Given the description of an element on the screen output the (x, y) to click on. 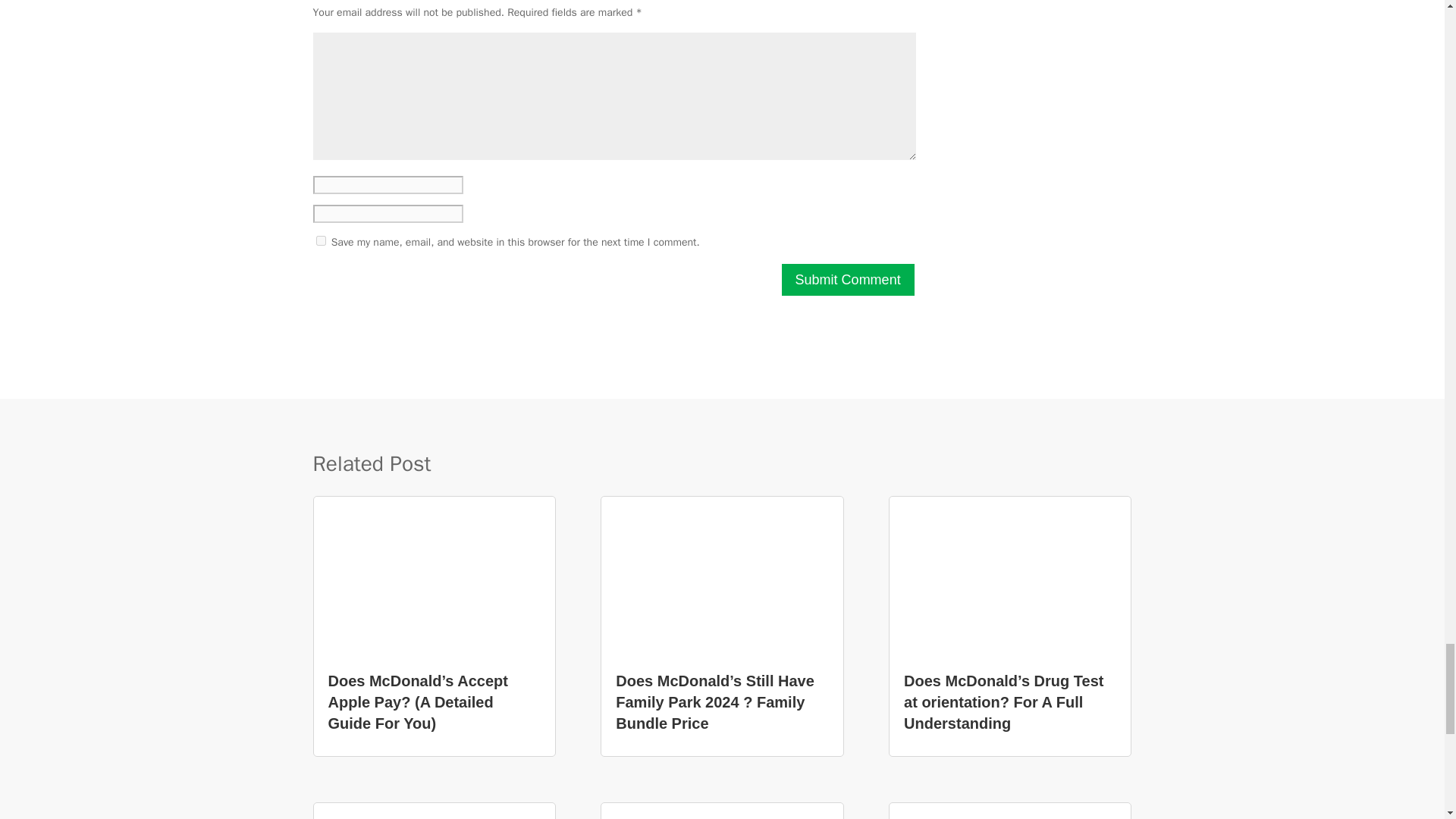
yes (319, 240)
